Given the description of an element on the screen output the (x, y) to click on. 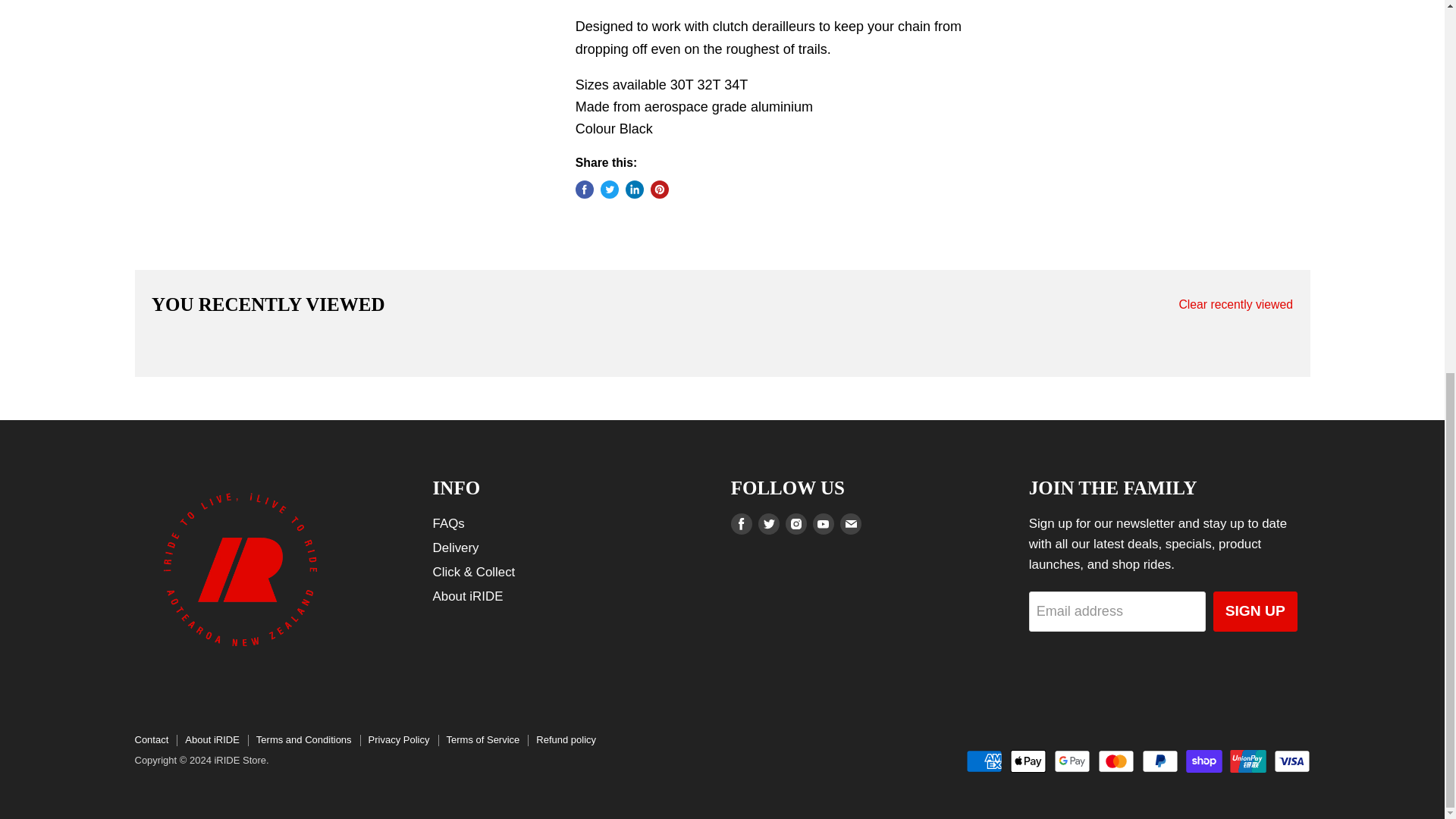
Instagram (796, 523)
Twitter (768, 523)
Email (850, 523)
Facebook (741, 523)
Youtube (823, 523)
